Given the description of an element on the screen output the (x, y) to click on. 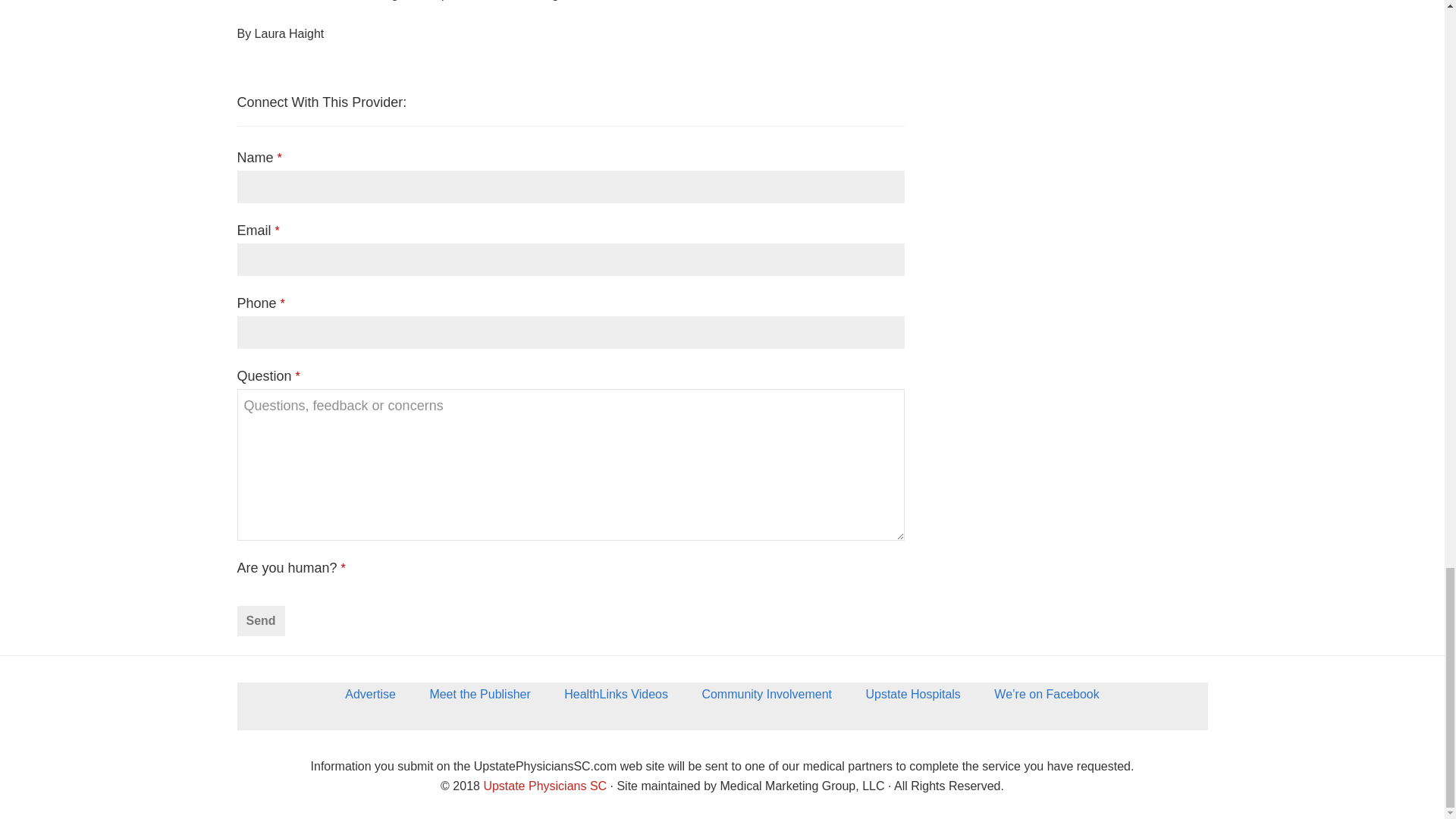
Meet the Publisher (478, 698)
Upstate Hospitals (912, 698)
Upstate Physicians SC (545, 785)
HealthLinks Videos (615, 698)
Community Involvement (766, 698)
Advertise (370, 698)
Send (259, 621)
